Given the description of an element on the screen output the (x, y) to click on. 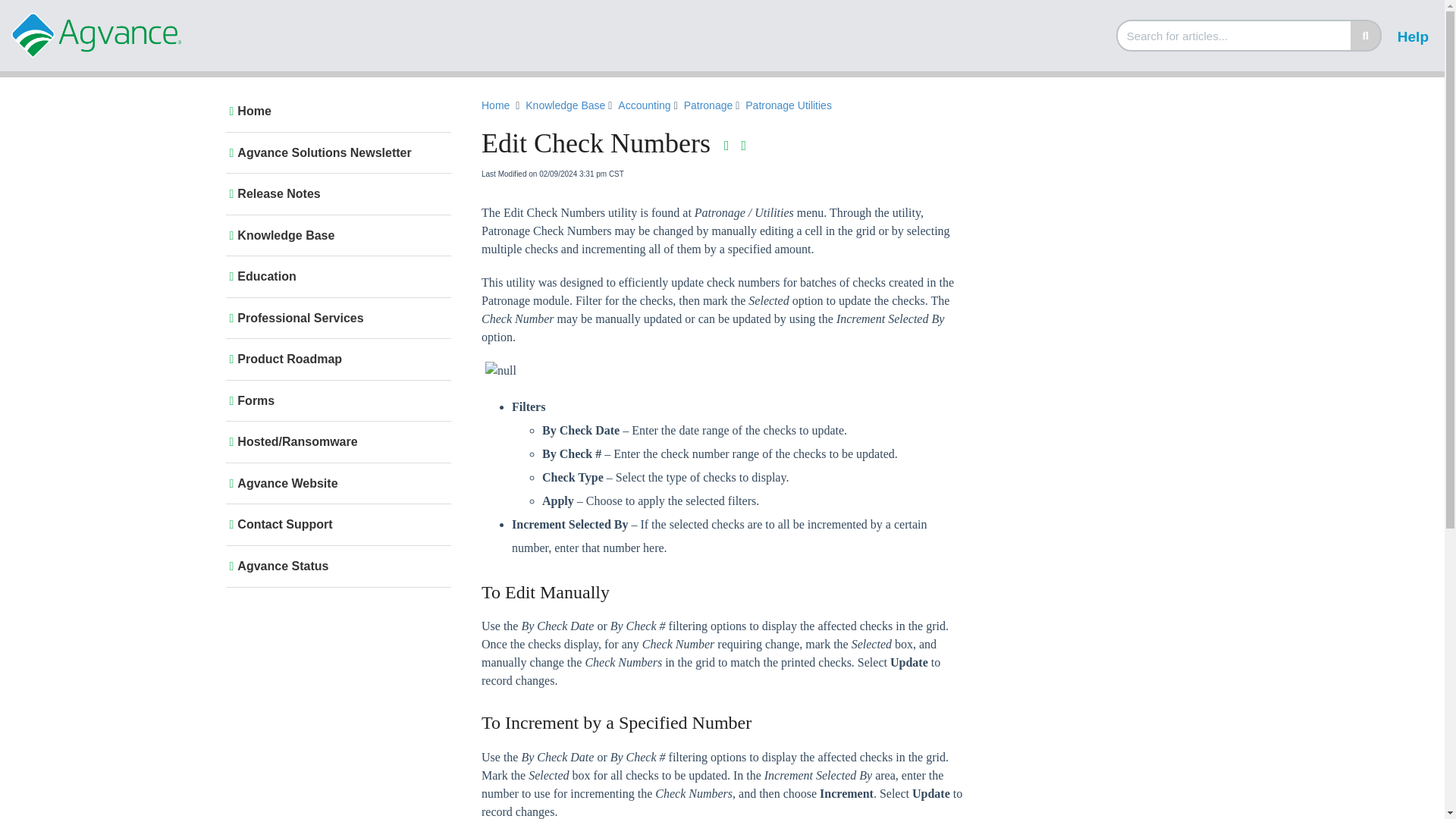
Knowledge Base (334, 235)
Contact Support (334, 524)
Education (334, 276)
Home (495, 105)
Forms (334, 401)
Agvance Solutions Newsletter (334, 153)
Agvance Status (334, 566)
Product Roadmap (334, 359)
Search (1365, 35)
Accounting (644, 105)
